Given the description of an element on the screen output the (x, y) to click on. 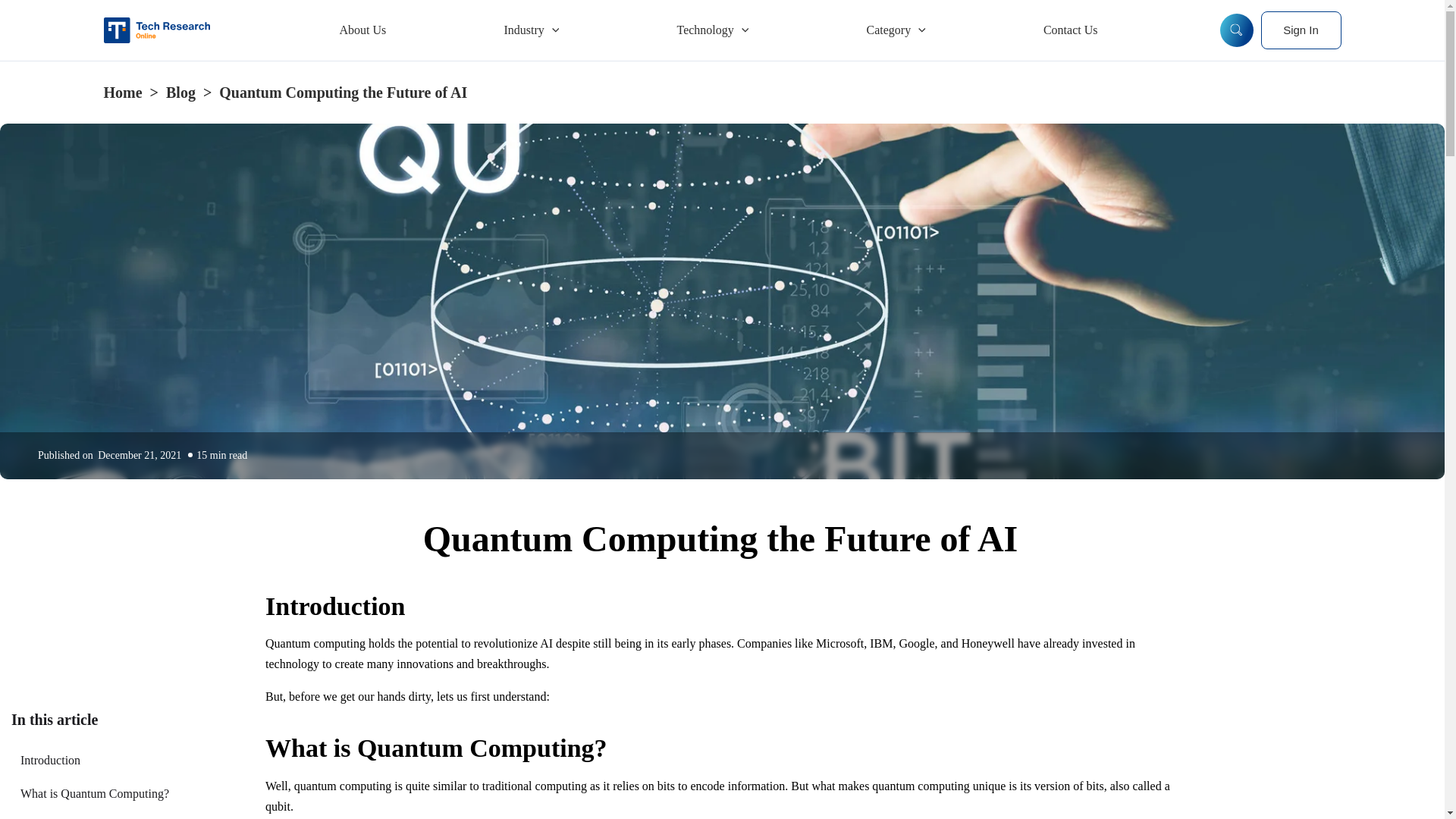
Technology (712, 30)
Category (896, 30)
Industry (531, 30)
